Given the description of an element on the screen output the (x, y) to click on. 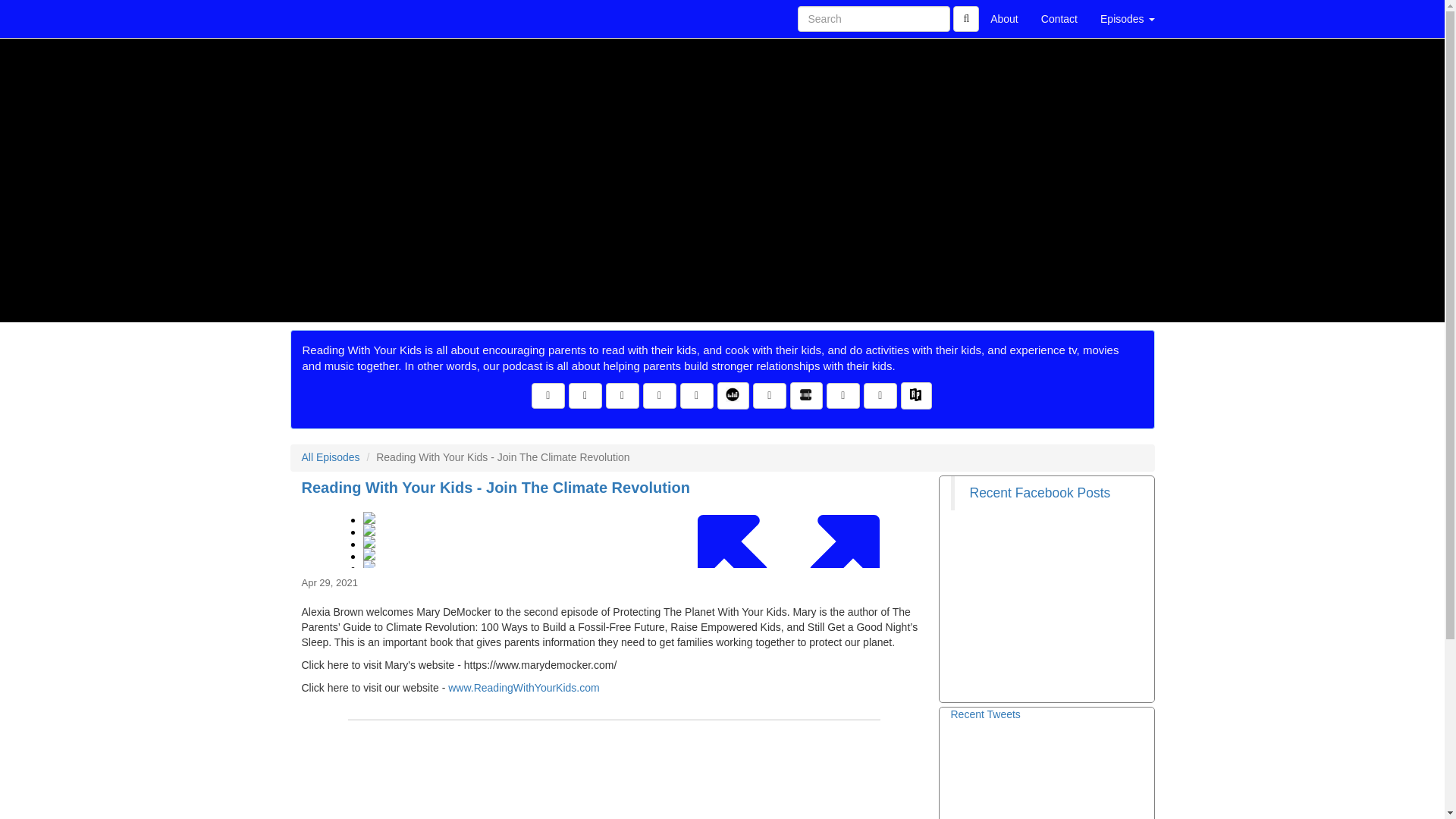
Reading With Your Kids - Join The Climate Revolution (614, 533)
Contact (1059, 18)
Home Page (320, 18)
Episodes (1127, 18)
About (1003, 18)
